Given the description of an element on the screen output the (x, y) to click on. 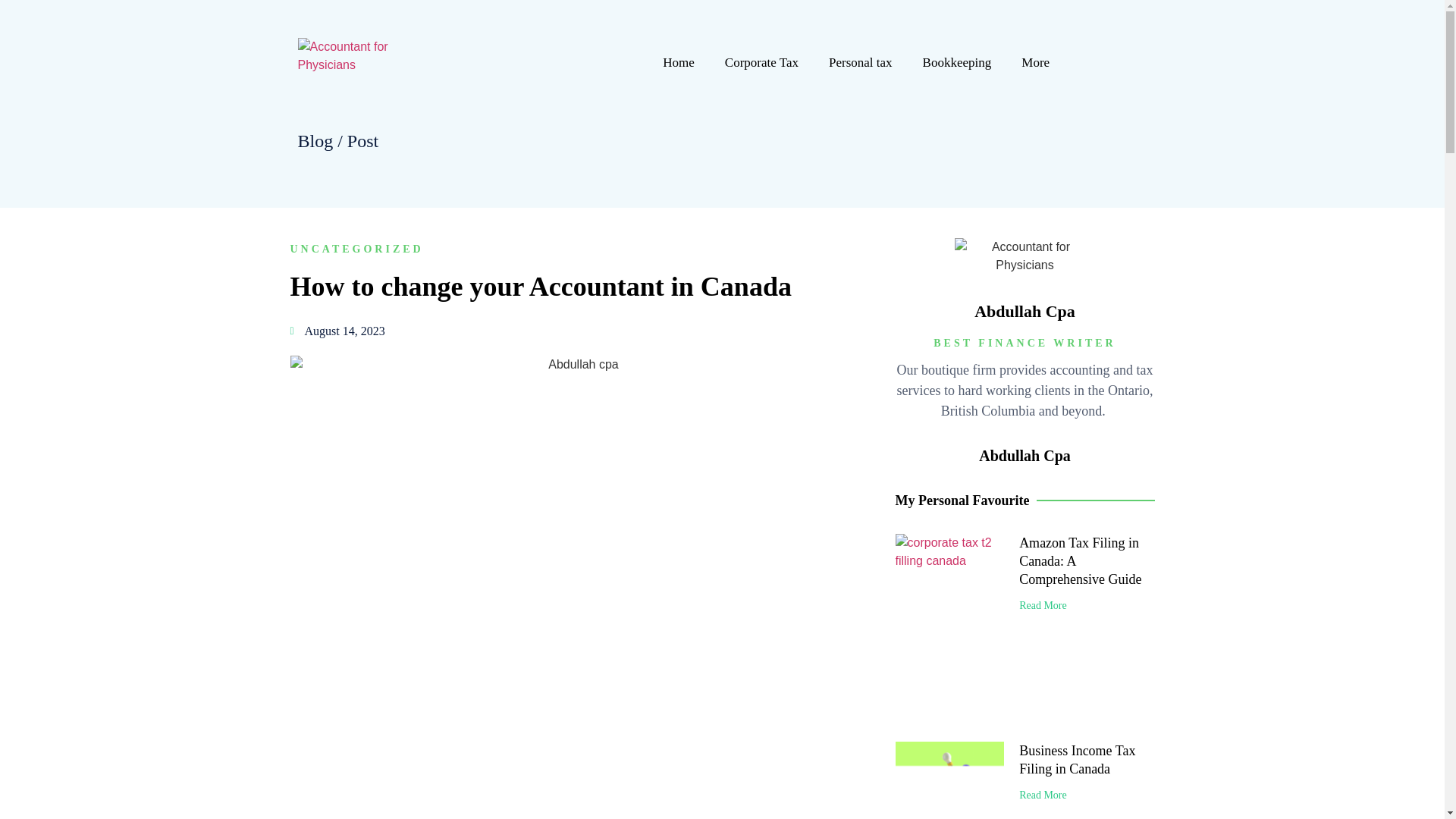
August 14, 2023 (336, 331)
More (1035, 62)
Abdullah cpa (350, 55)
UNCATEGORIZED (356, 248)
Home (678, 62)
Bookkeeping (957, 62)
Corporate Tax (761, 62)
Personal tax (860, 62)
